Given the description of an element on the screen output the (x, y) to click on. 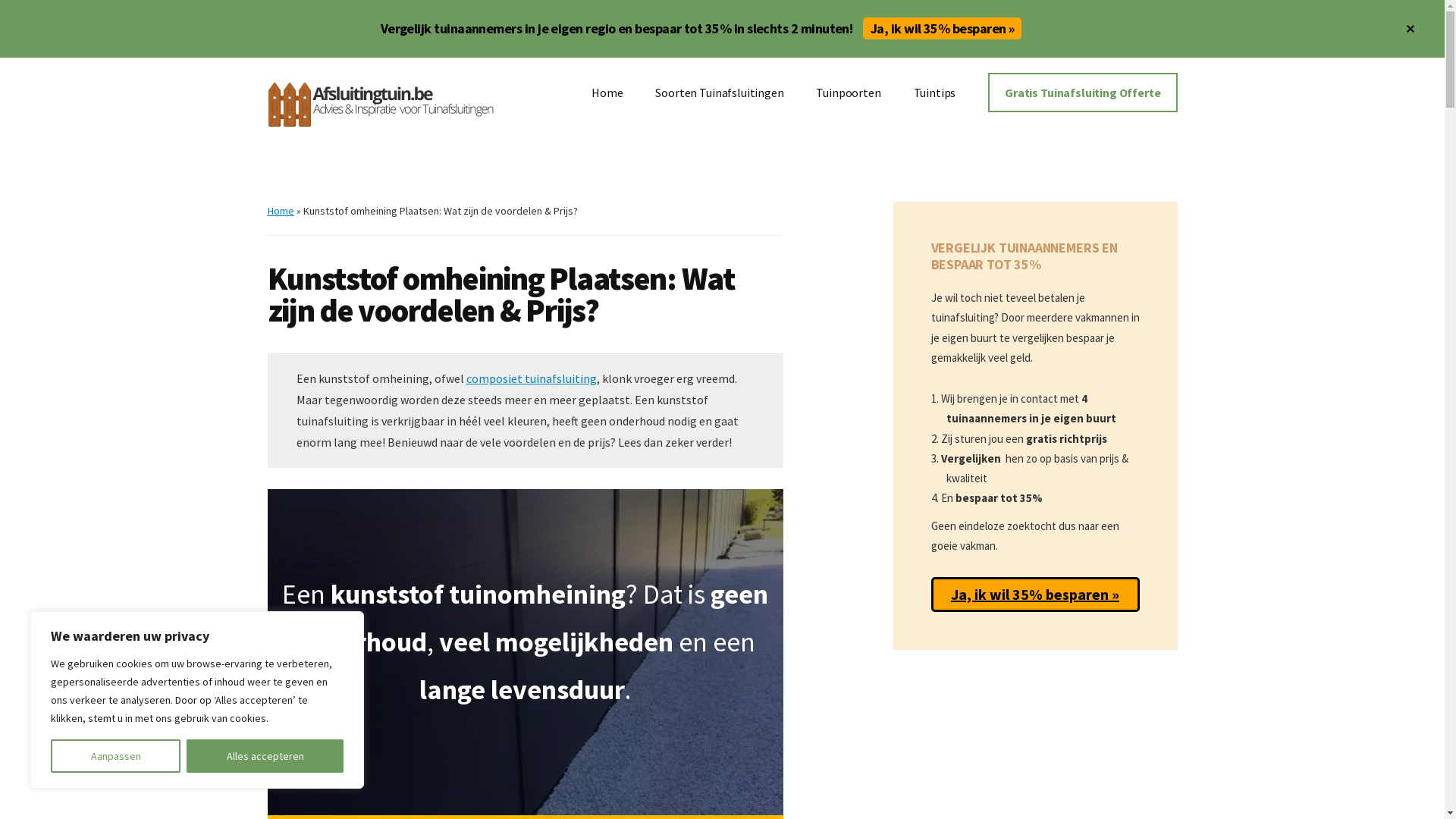
Close Top Banner Element type: text (1410, 28)
composiet tuinafsluiting Element type: text (530, 377)
Gratis Tuinafsluiting Offerte Element type: text (1082, 92)
Door naar de hoofd inhoud Element type: text (0, 0)
Tuintips Element type: text (934, 92)
Soorten Tuinafsluitingen Element type: text (719, 92)
Alles accepteren Element type: text (264, 755)
Home Element type: text (279, 210)
Tuinafsluitingen Element type: text (380, 102)
Home Element type: text (606, 92)
Tuinpoorten Element type: text (847, 92)
Aanpassen Element type: text (115, 755)
